Given the description of an element on the screen output the (x, y) to click on. 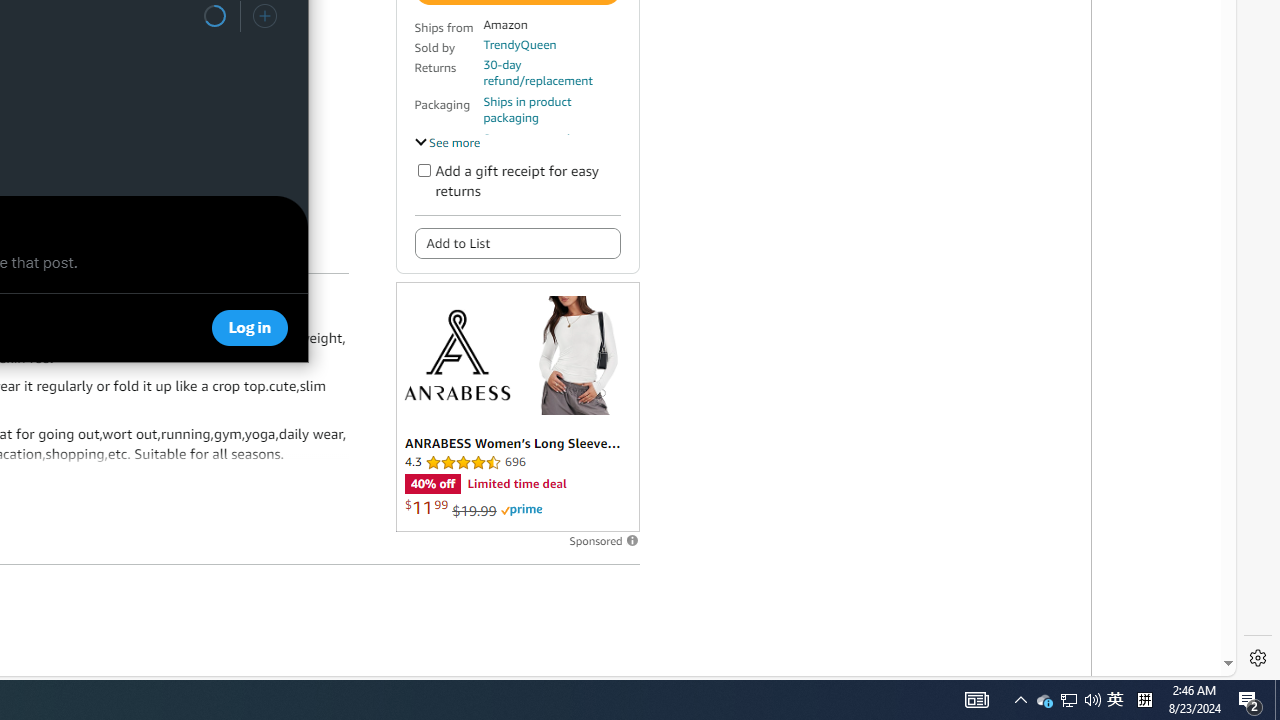
TrendyQueen (1044, 699)
Add post (519, 43)
User Promoted Notification Area (264, 16)
AutomationID: 4105 (1068, 699)
Add a gift receipt for easy returns (1069, 699)
Tray Input Indicator - Chinese (Simplified, China) (976, 699)
Sponsored ad (424, 170)
30-day refund/replacement (1144, 699)
Action Center, 2 new notifications (516, 406)
Notification Chevron (551, 72)
